Given the description of an element on the screen output the (x, y) to click on. 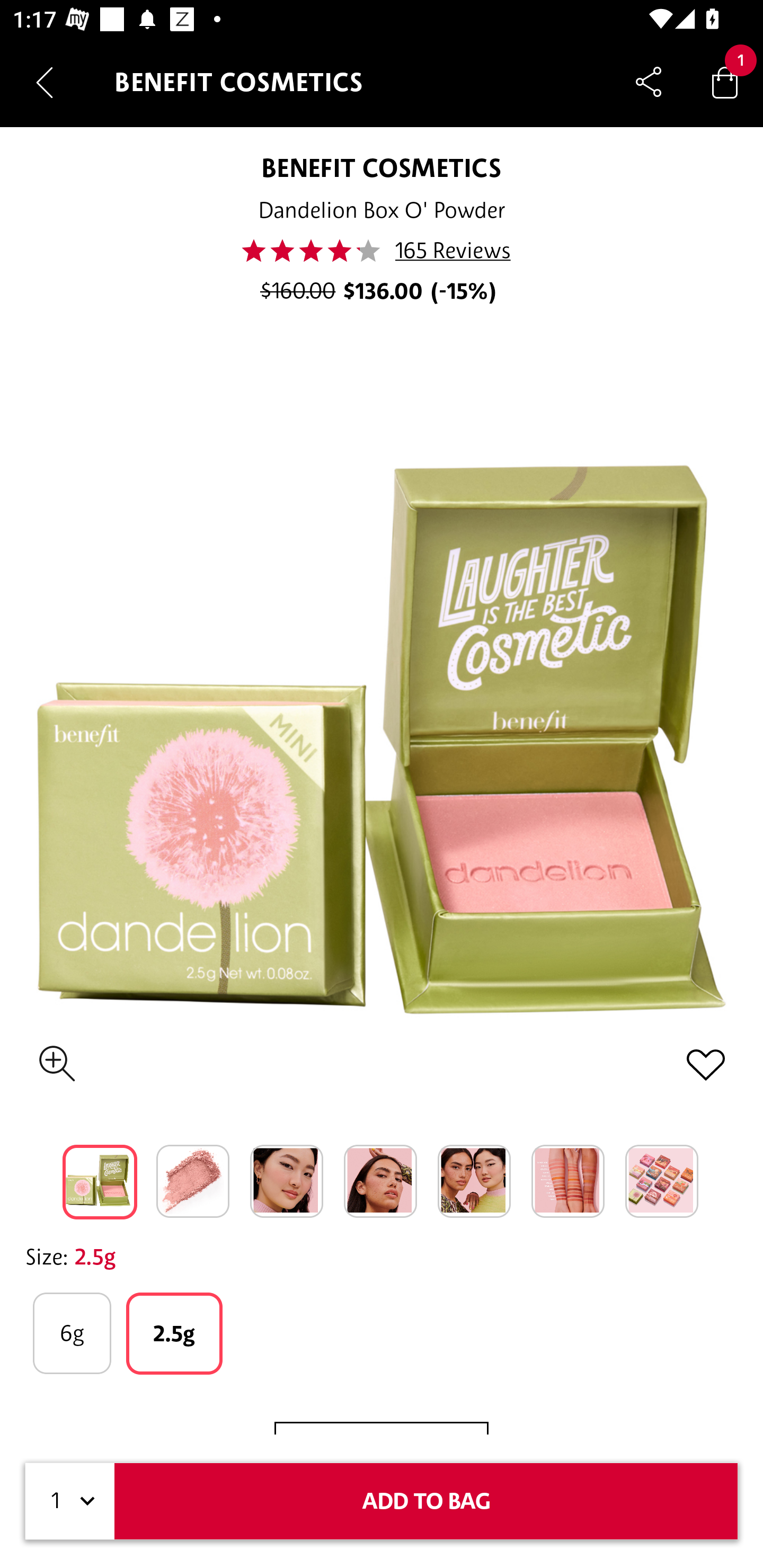
Navigate up (44, 82)
Share (648, 81)
Bag (724, 81)
BENEFIT COSMETICS (381, 167)
42.0 165 Reviews (381, 250)
6g (71, 1332)
2.5g (173, 1333)
1 (69, 1500)
ADD TO BAG (425, 1500)
